Given the description of an element on the screen output the (x, y) to click on. 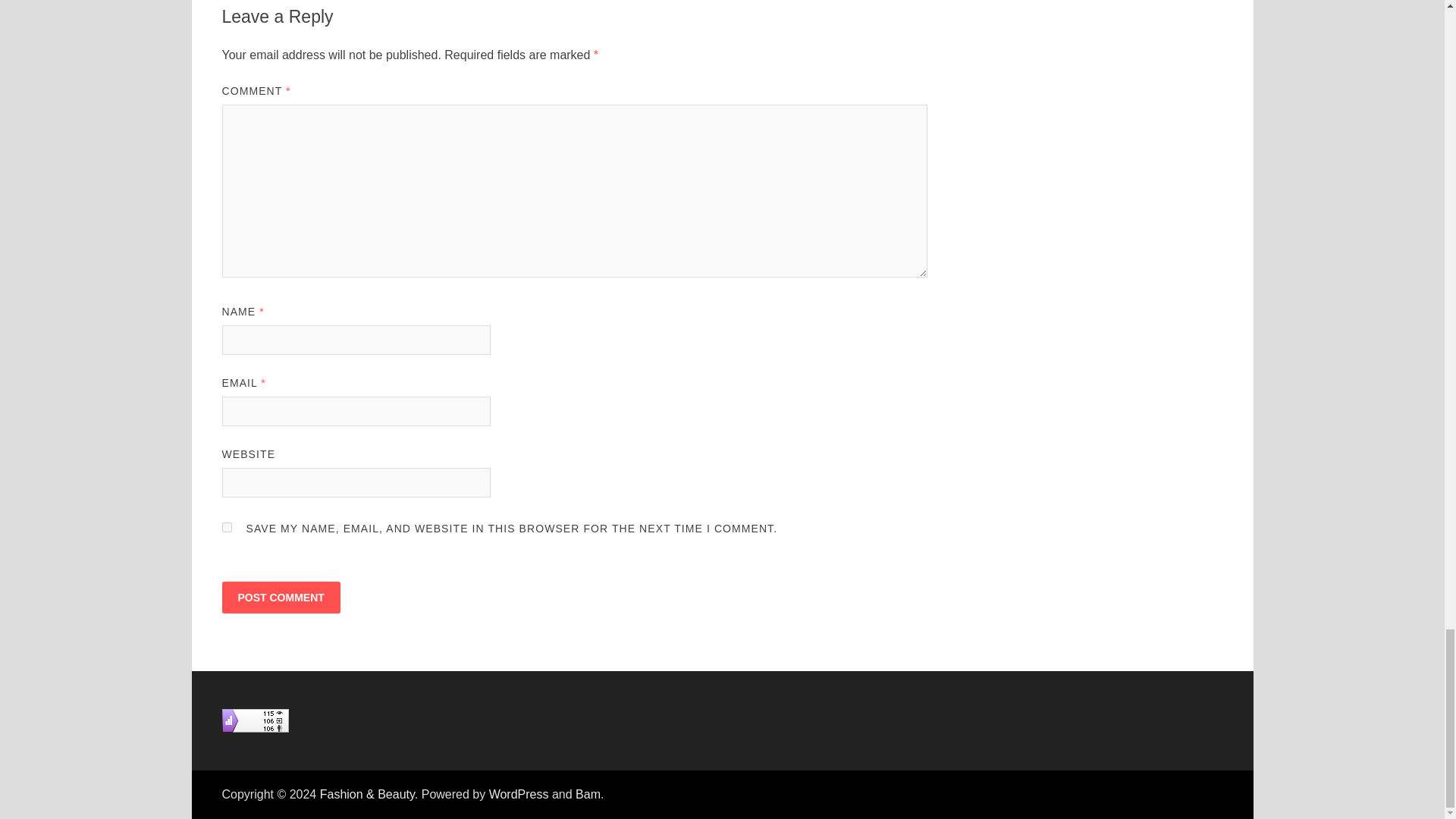
WordPress (518, 793)
yes (226, 527)
Post Comment (280, 597)
Bam (587, 793)
Post Comment (280, 597)
